Given the description of an element on the screen output the (x, y) to click on. 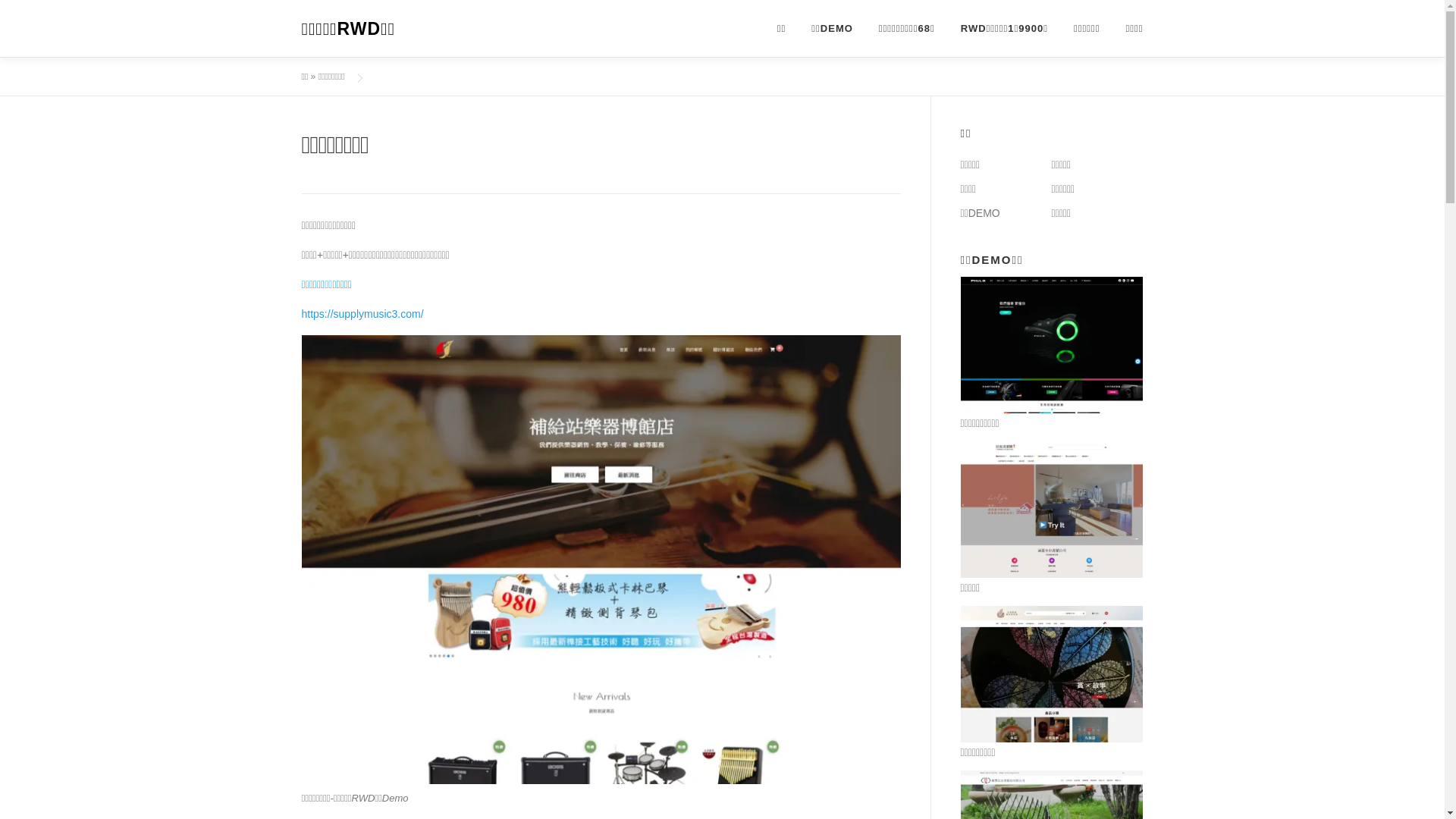
https://supplymusic3.com/ Element type: text (362, 313)
